Given the description of an element on the screen output the (x, y) to click on. 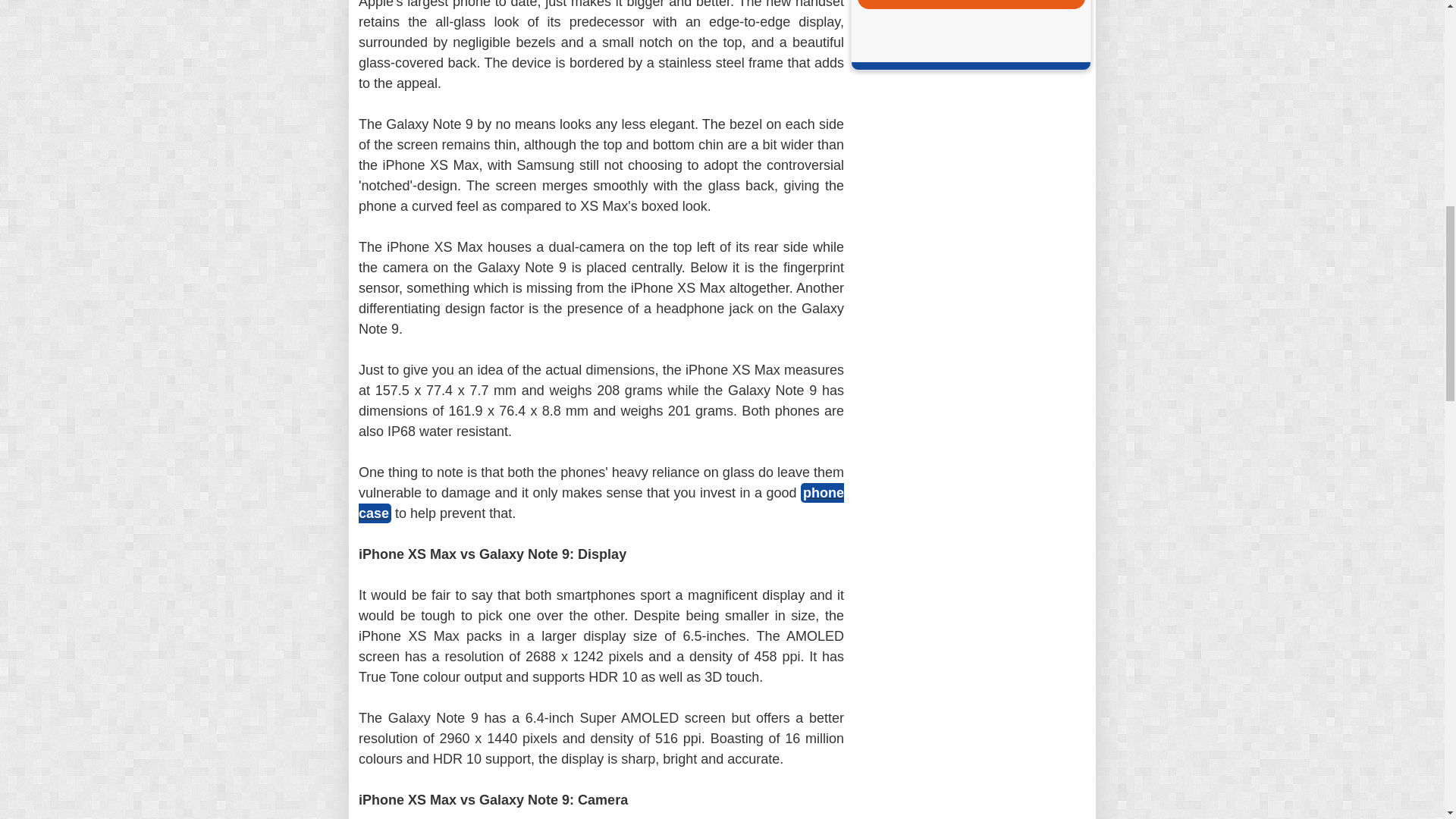
All Android Updates (970, 2)
